Given the description of an element on the screen output the (x, y) to click on. 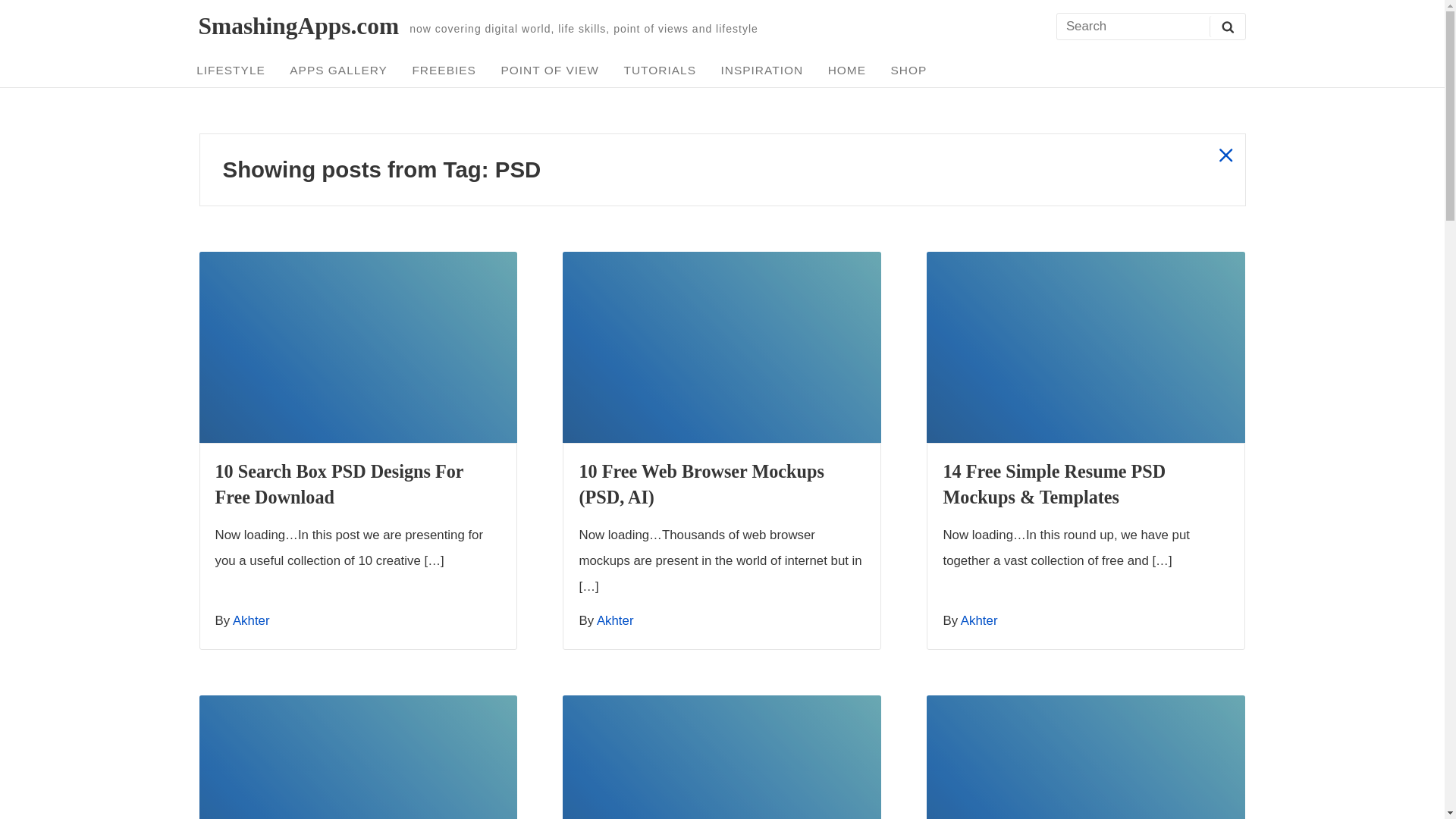
READ FULL POST (357, 757)
READ FULL POST (357, 347)
READ FULL POST (721, 757)
Akhter (250, 620)
HOME (846, 69)
Akhter (614, 620)
LIFESTYLE (231, 69)
INSPIRATION (761, 69)
POINT OF VIEW (550, 69)
Search for: (1149, 26)
show all posts (1225, 154)
APPS GALLERY (338, 69)
READ FULL POST (1085, 347)
READ FULL POST (1085, 757)
10 Search Box PSD Designs For Free Download (339, 483)
